Given the description of an element on the screen output the (x, y) to click on. 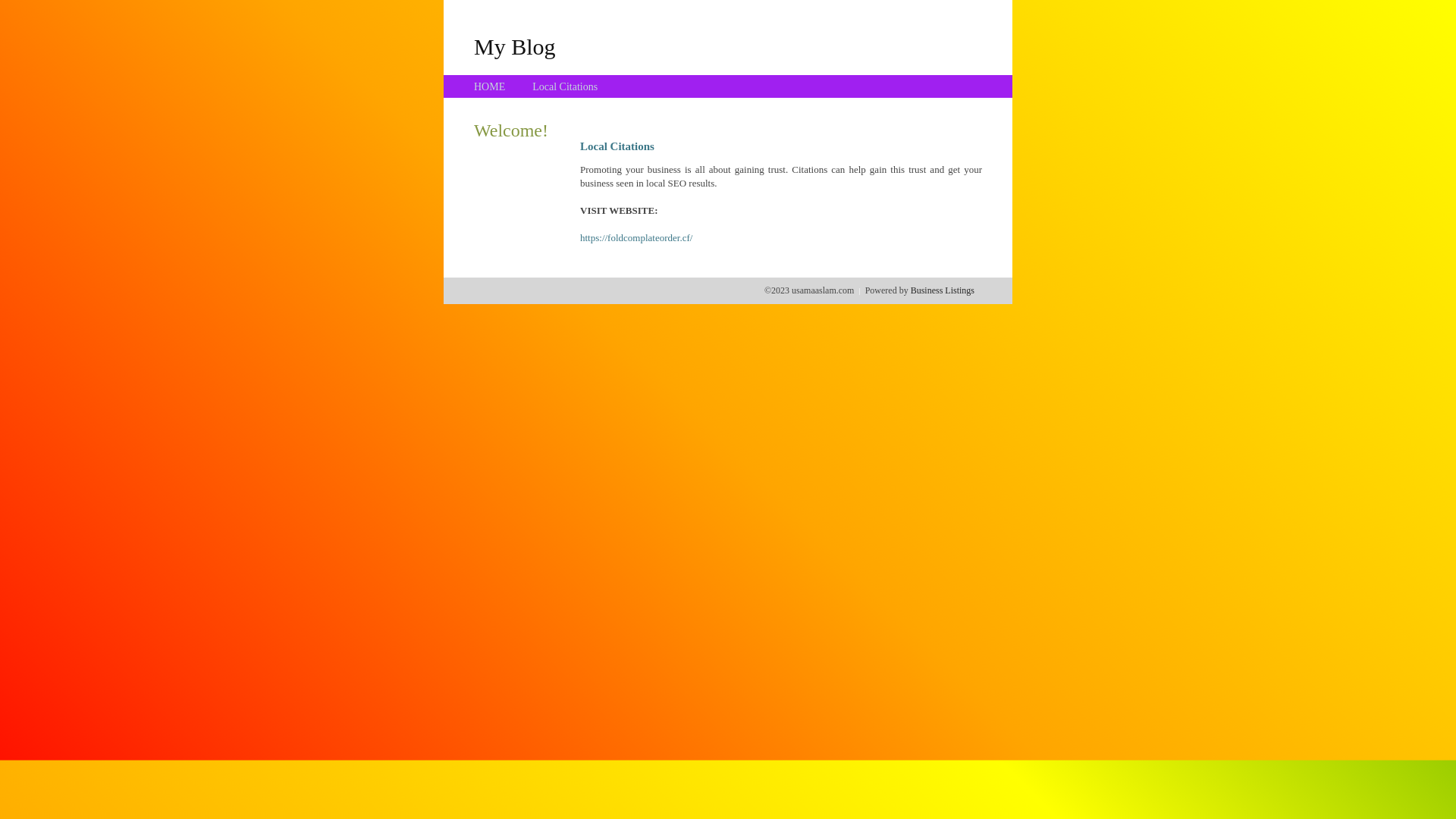
My Blog Element type: text (514, 46)
https://foldcomplateorder.cf/ Element type: text (636, 237)
Business Listings Element type: text (942, 290)
HOME Element type: text (489, 86)
Local Citations Element type: text (564, 86)
